Given the description of an element on the screen output the (x, y) to click on. 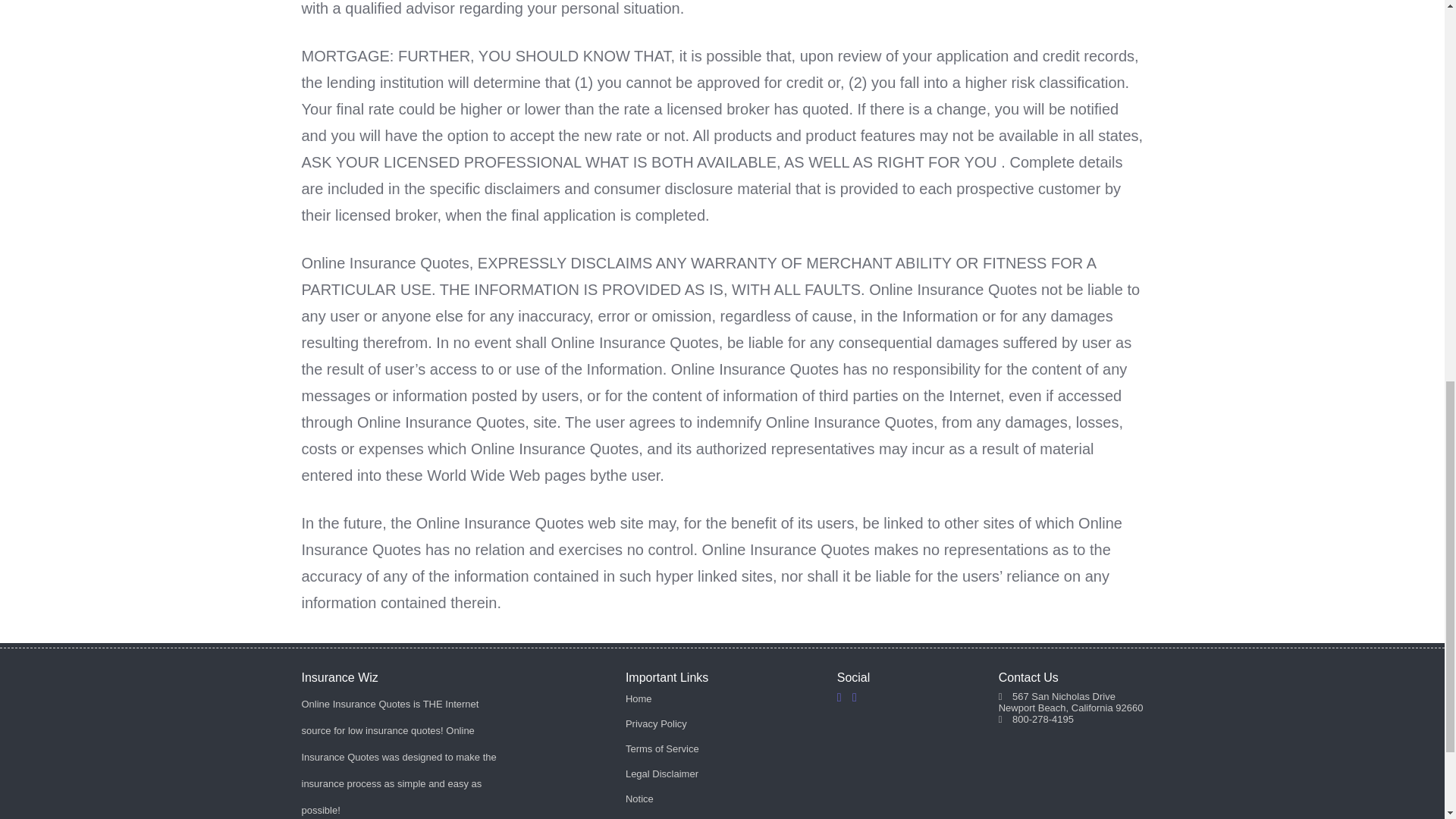
Notice (639, 798)
Insurance Wiz (399, 677)
Privacy Policy (656, 723)
Legal Disclaimer (662, 773)
Home (639, 698)
800-278-4195 (1042, 718)
Terms of Service (662, 748)
